Given the description of an element on the screen output the (x, y) to click on. 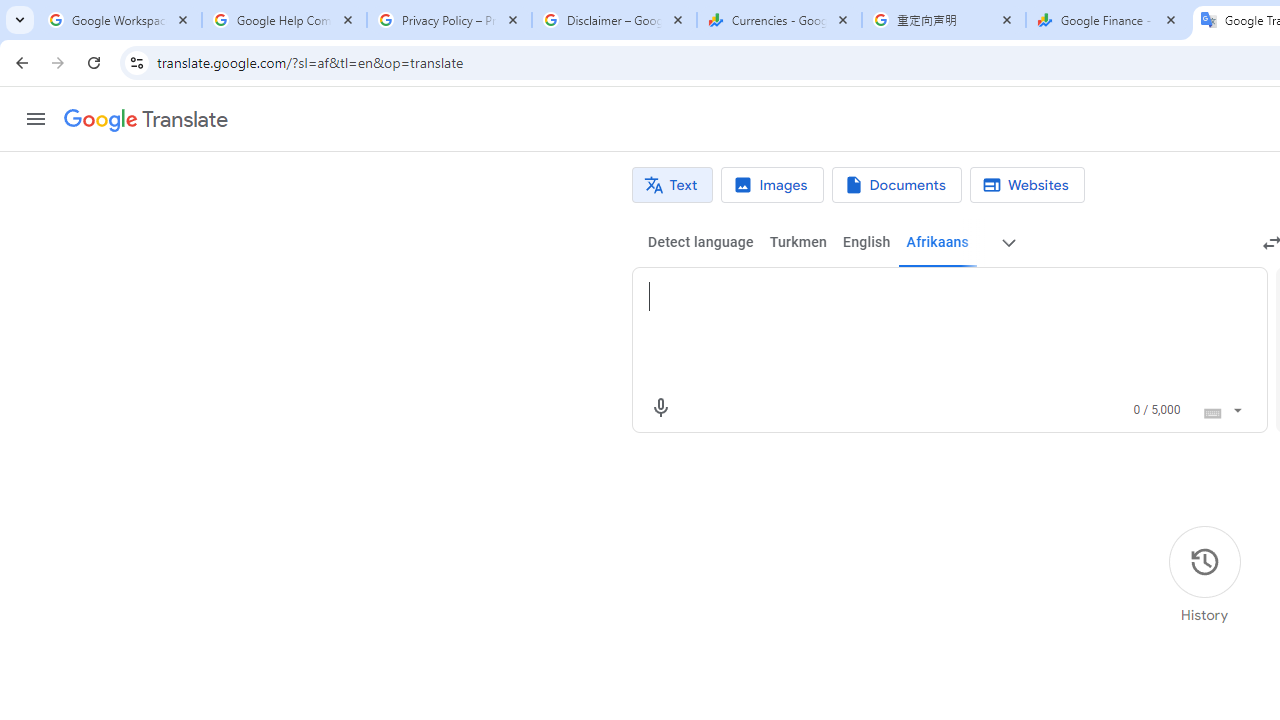
Google Translate (145, 120)
Translate by voice (660, 407)
